Given the description of an element on the screen output the (x, y) to click on. 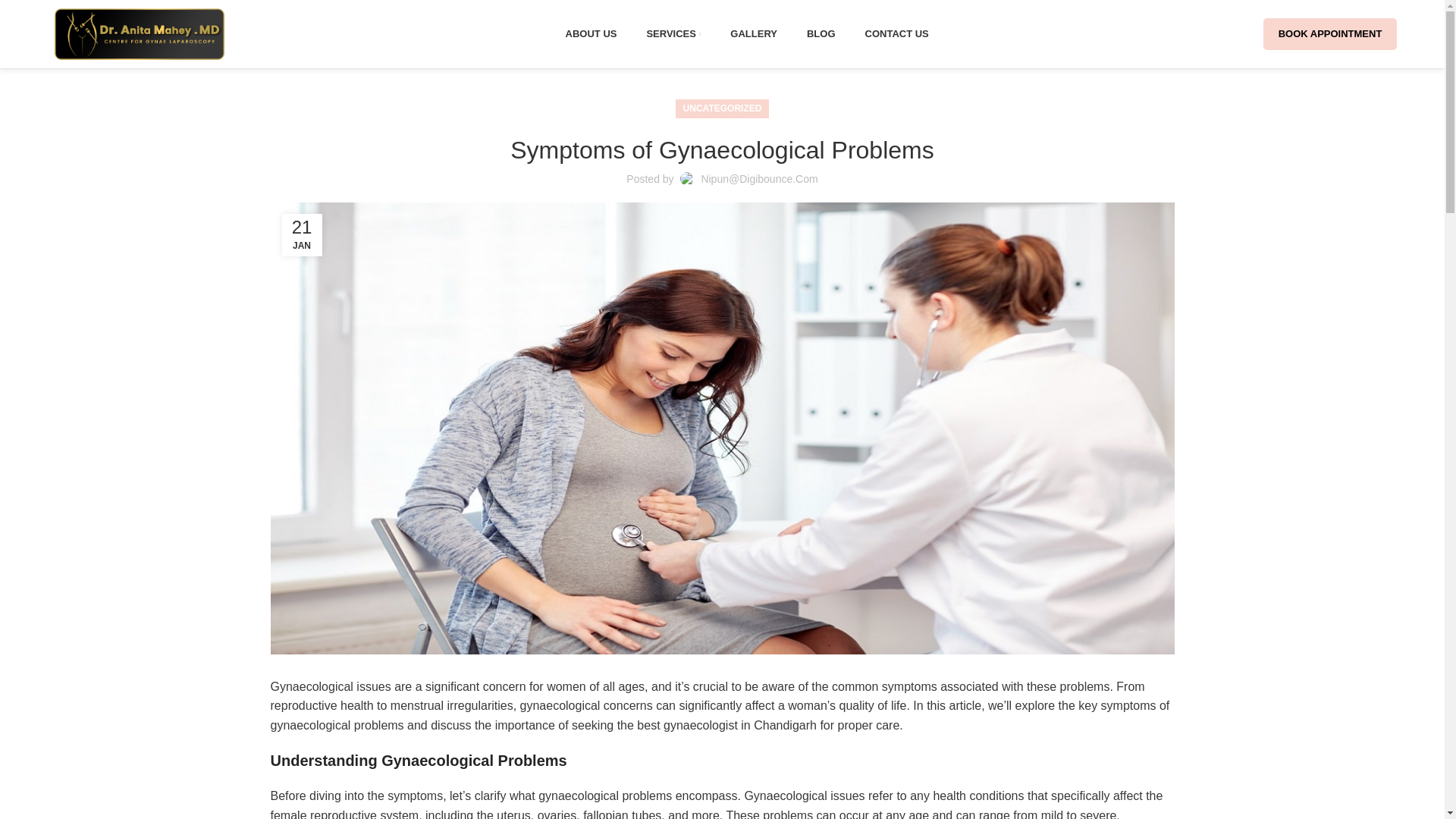
CONTACT US (896, 33)
SERVICES (673, 33)
ABOUT US (591, 33)
BLOG (722, 34)
GALLERY (820, 33)
BOOK APPOINTMENT (753, 33)
UNCATEGORIZED (1330, 33)
